Given the description of an element on the screen output the (x, y) to click on. 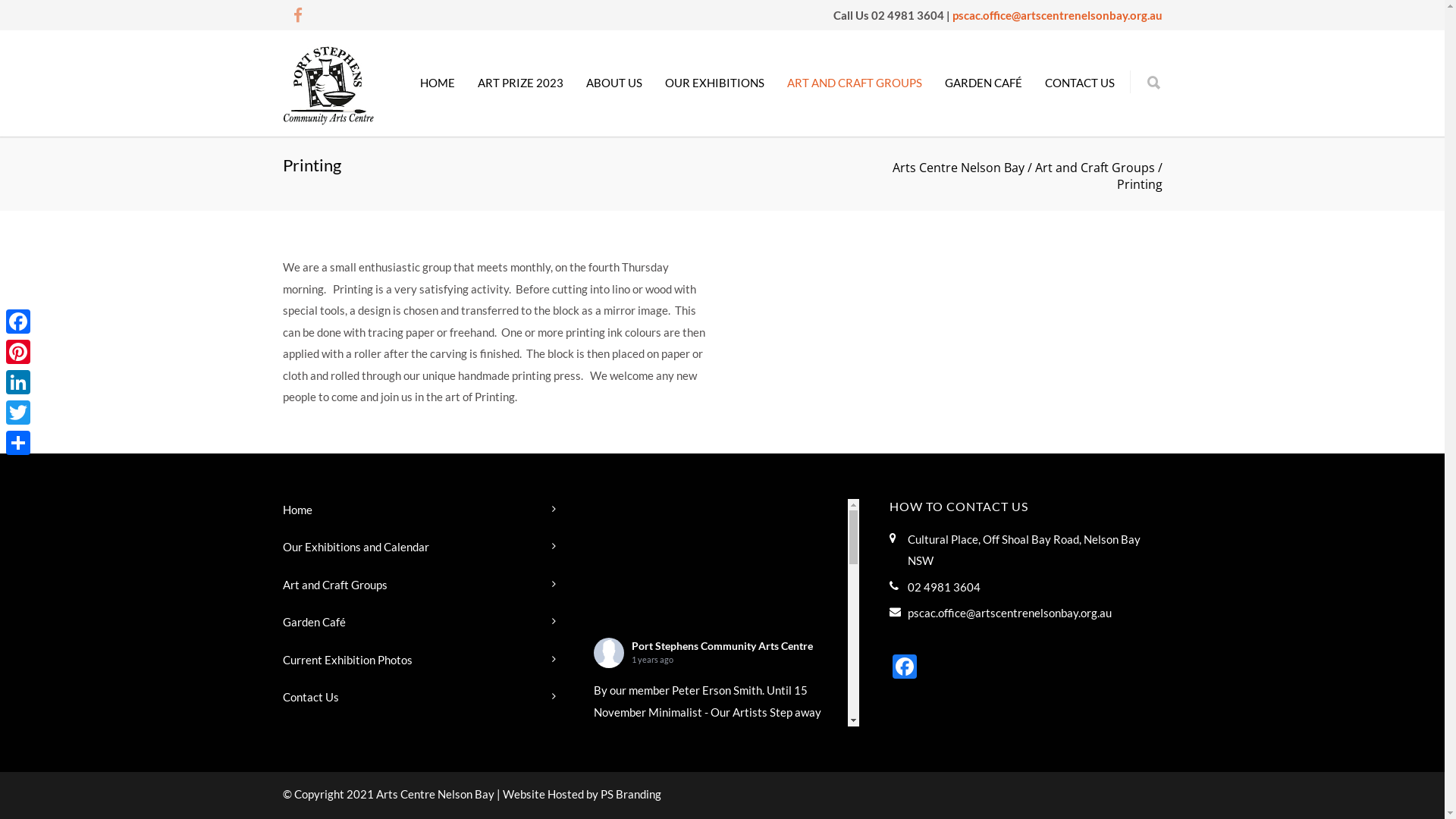
Share Element type: text (18, 442)
ART AND CRAFT GROUPS Element type: text (853, 82)
Art and Craft Groups Element type: text (414, 584)
Contact Us Element type: text (414, 697)
Twitter Element type: text (18, 412)
ART PRIZE 2023 Element type: text (519, 82)
Website Hosted by PS Branding Element type: text (581, 793)
Facebook Element type: hover (297, 15)
Arts Centre Nelson Bay Element type: text (957, 167)
Pinterest Element type: text (18, 351)
ABOUT US Element type: text (613, 82)
LinkedIn Element type: text (18, 382)
CONTACT US Element type: text (1078, 82)
Home Element type: text (414, 509)
Port Stephens Community Arts Centre Element type: text (721, 645)
pscac.office@artscentrenelsonbay.org.au Element type: text (1008, 612)
OUR EXHIBITIONS Element type: text (714, 82)
HOME Element type: text (436, 82)
Facebook Element type: text (903, 667)
Art and Craft Groups Element type: text (1094, 167)
Current Exhibition Photos Element type: text (414, 660)
pscac.office@artscentrenelsonbay.org.au Element type: text (1057, 14)
Our Exhibitions and Calendar Element type: text (414, 547)
Facebook Element type: text (18, 321)
